Given the description of an element on the screen output the (x, y) to click on. 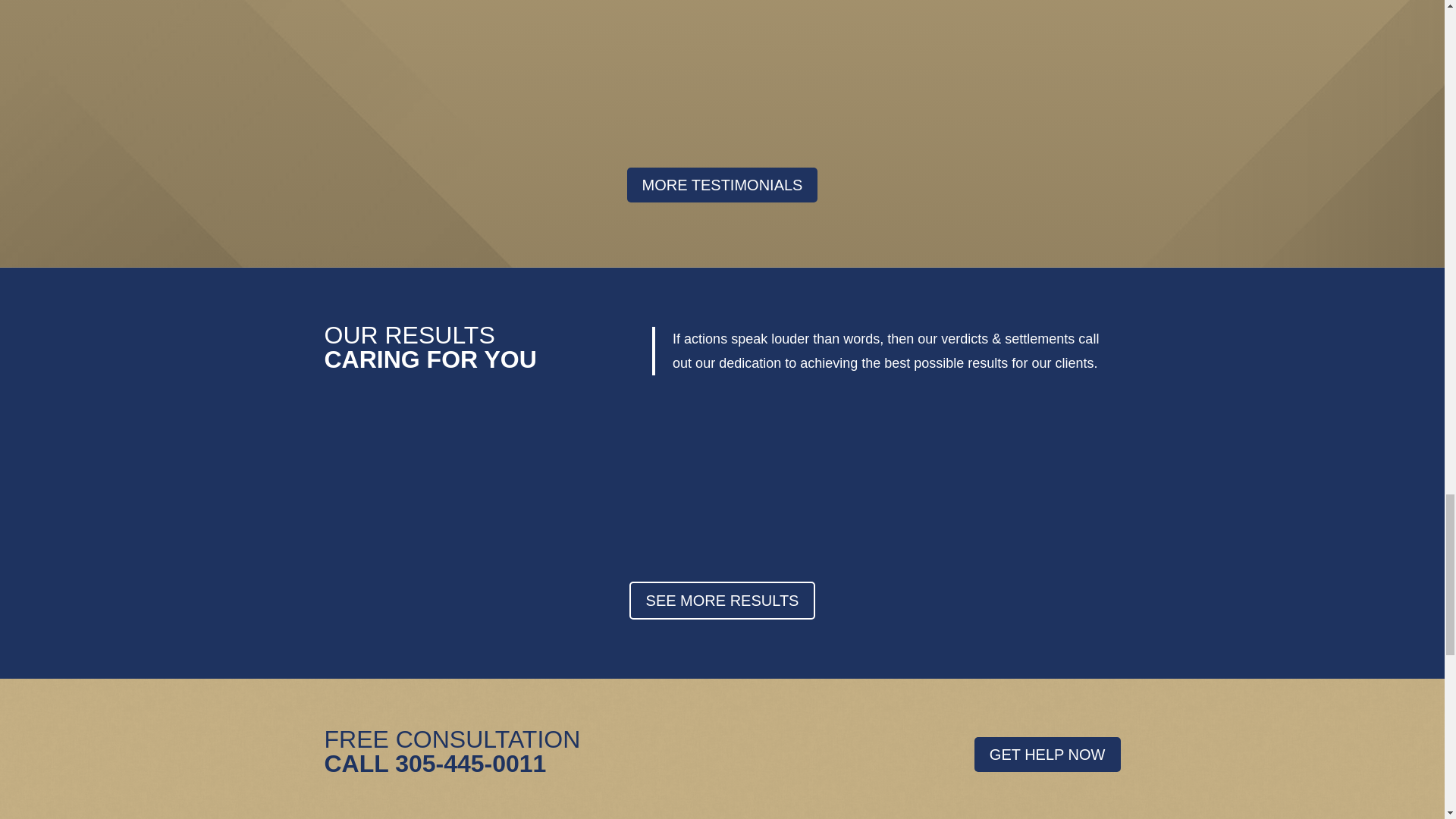
MORE TESTIMONIALS (722, 184)
GET HELP NOW (1047, 754)
305-445-0011 (470, 762)
SEE MORE RESULTS (721, 600)
